Given the description of an element on the screen output the (x, y) to click on. 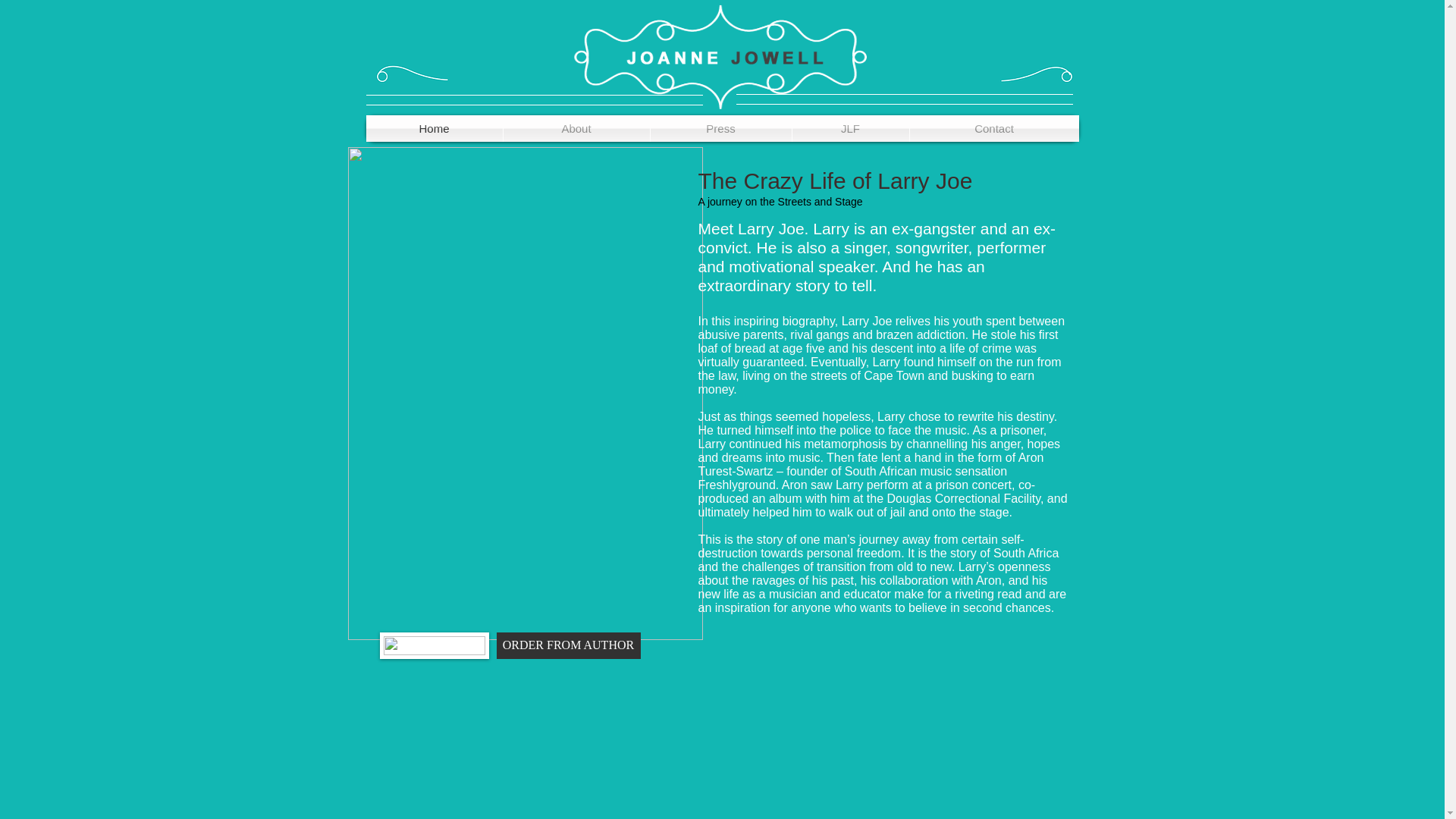
Home (433, 128)
Press (721, 128)
About (576, 128)
Contact (994, 128)
JLF (850, 128)
ORDER FROM AUTHOR (568, 645)
